Given the description of an element on the screen output the (x, y) to click on. 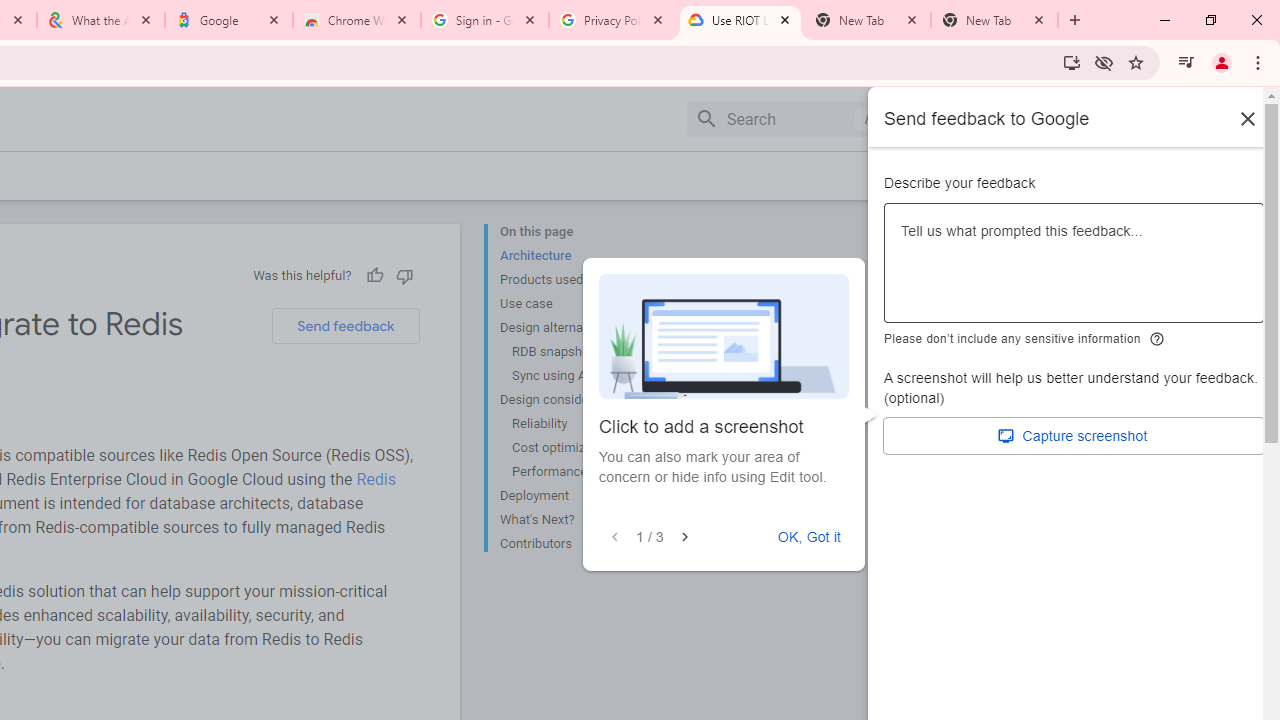
Use case (580, 304)
Describe your feedback (1074, 271)
Design considerations (580, 399)
Products used (580, 279)
Previous (615, 537)
Sync using Active-Passive (585, 376)
Design alternatives (580, 327)
Install Google Cloud (1071, 62)
Deployment (580, 495)
English (1110, 118)
